Given the description of an element on the screen output the (x, y) to click on. 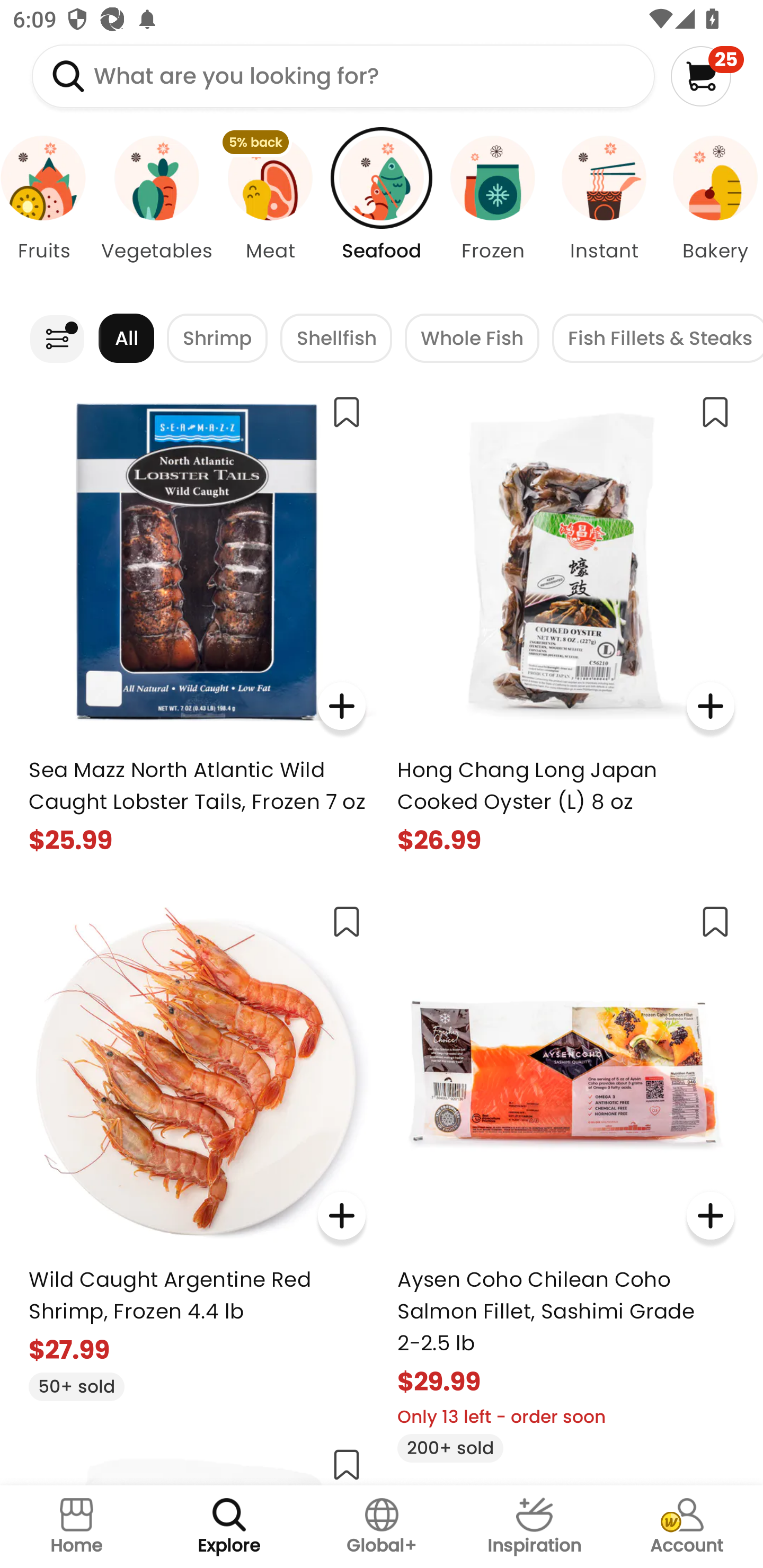
What are you looking for? (343, 75)
25 (706, 75)
Fruits (49, 214)
Vegetables (156, 214)
5% back Meat (269, 214)
Seafood (381, 214)
Frozen (492, 214)
Instant (603, 214)
Bakery (711, 214)
All (126, 337)
Shrimp (217, 337)
Shellfish (336, 337)
Whole Fish (472, 337)
Fish Fillets & Steaks (657, 337)
